Given the description of an element on the screen output the (x, y) to click on. 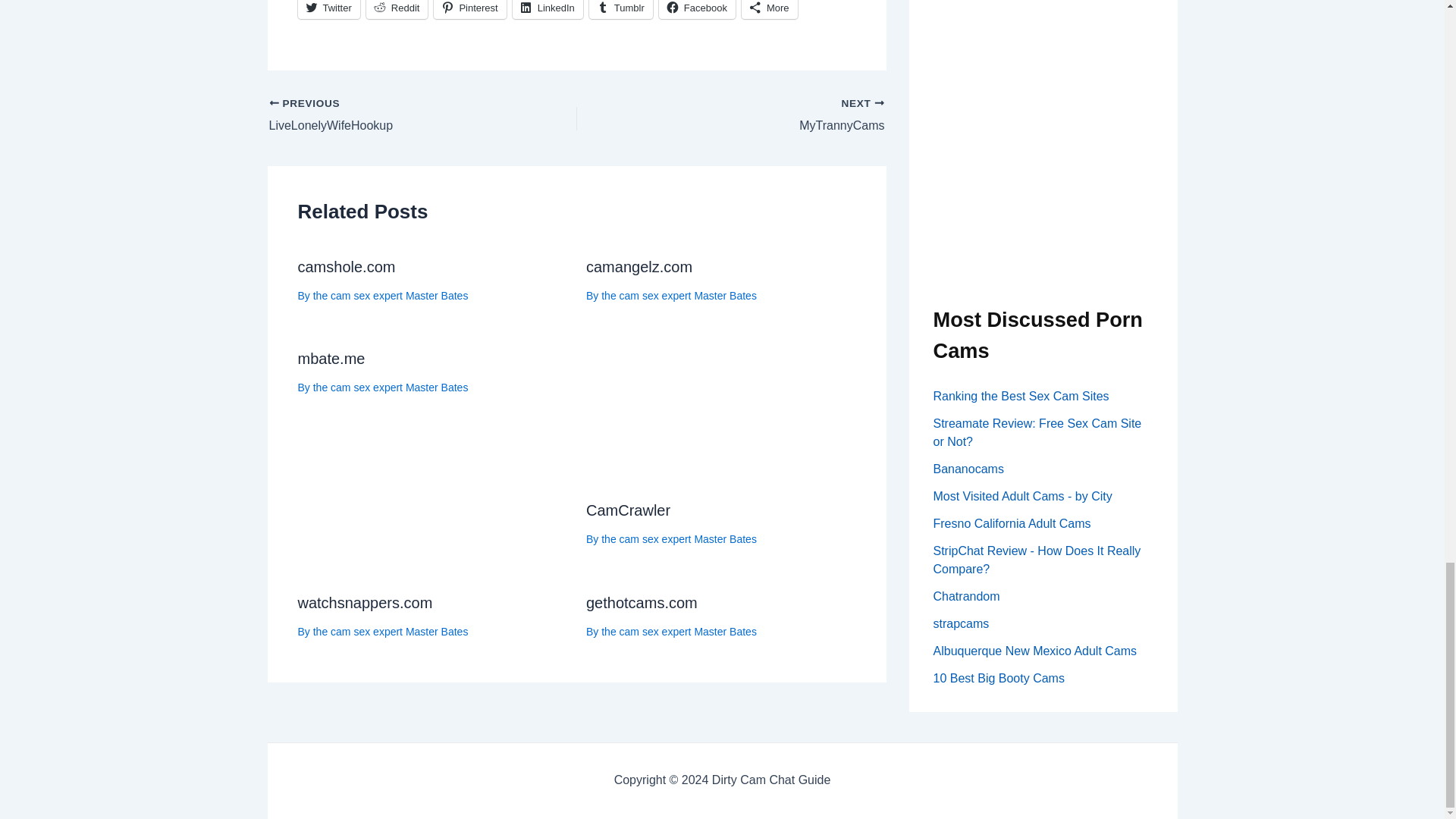
Click to share on Pinterest (469, 9)
Click to share on LinkedIn (547, 9)
Click to share on Tumblr (620, 9)
Click to share on Facebook (697, 9)
Click to share on Reddit (397, 9)
Click to share on Twitter (328, 9)
LiveLonelyWifeHookup (391, 115)
